Given the description of an element on the screen output the (x, y) to click on. 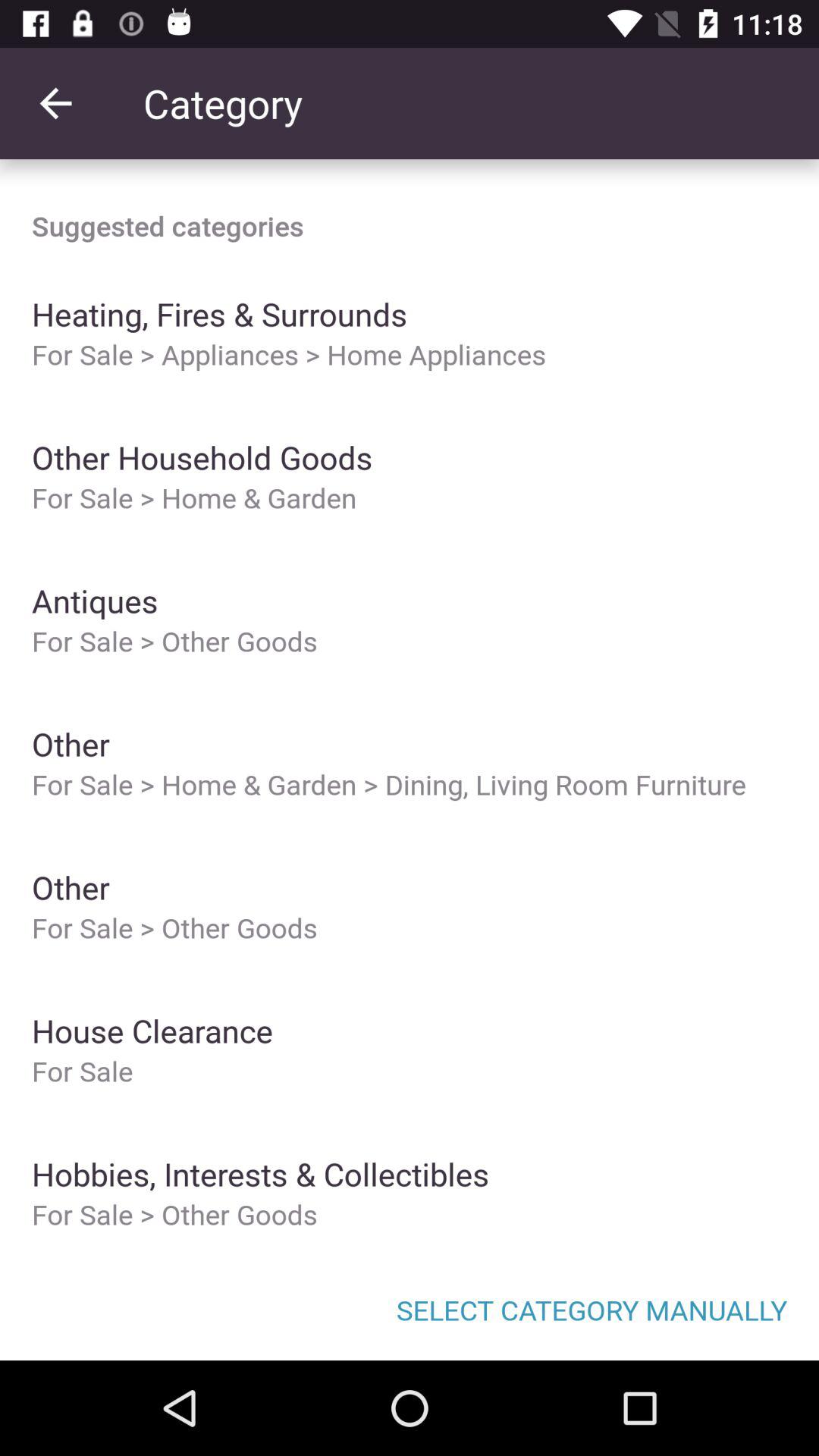
tap the item above the suggested categories item (55, 103)
